Given the description of an element on the screen output the (x, y) to click on. 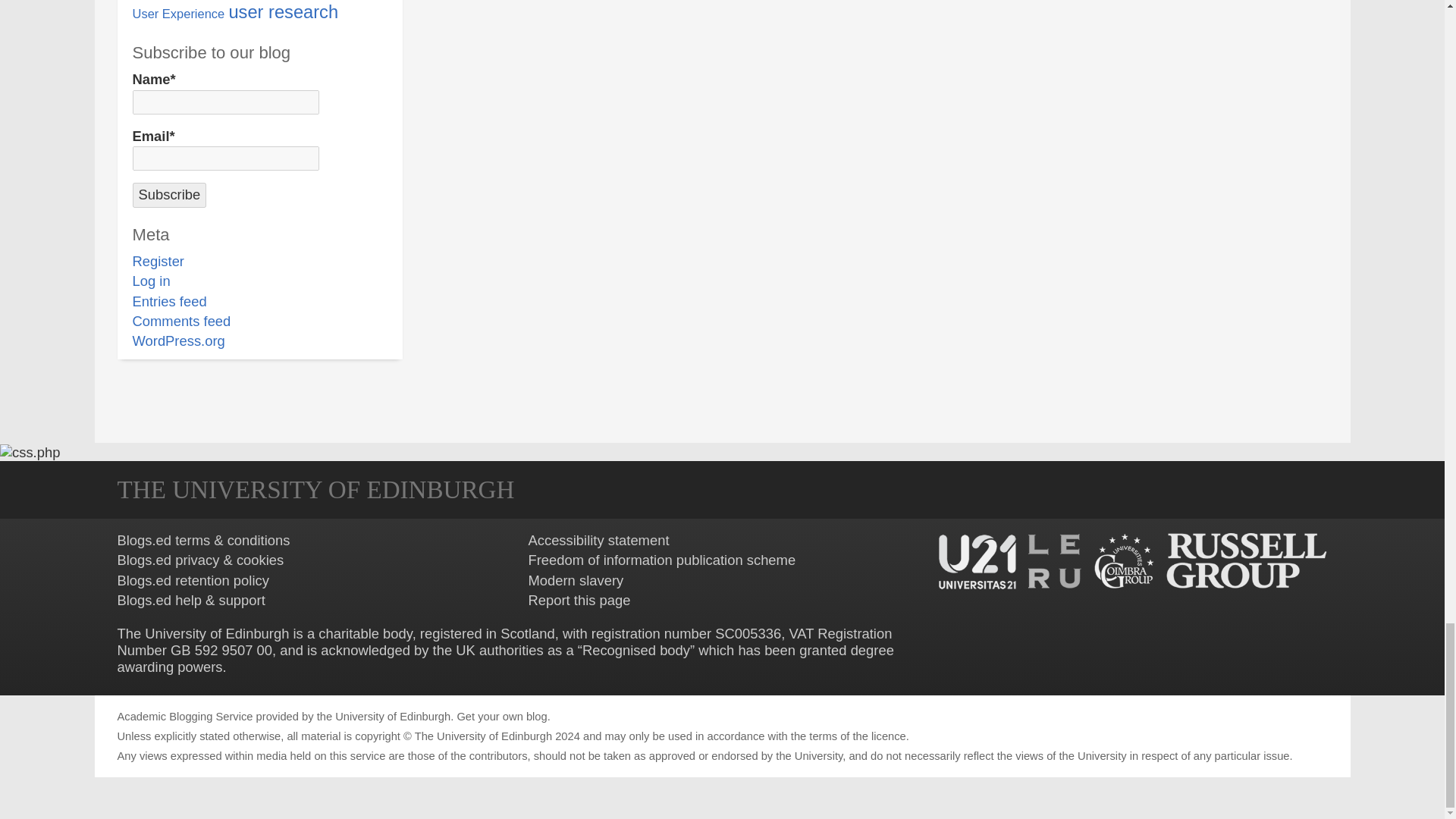
Subscribe (169, 194)
